Given the description of an element on the screen output the (x, y) to click on. 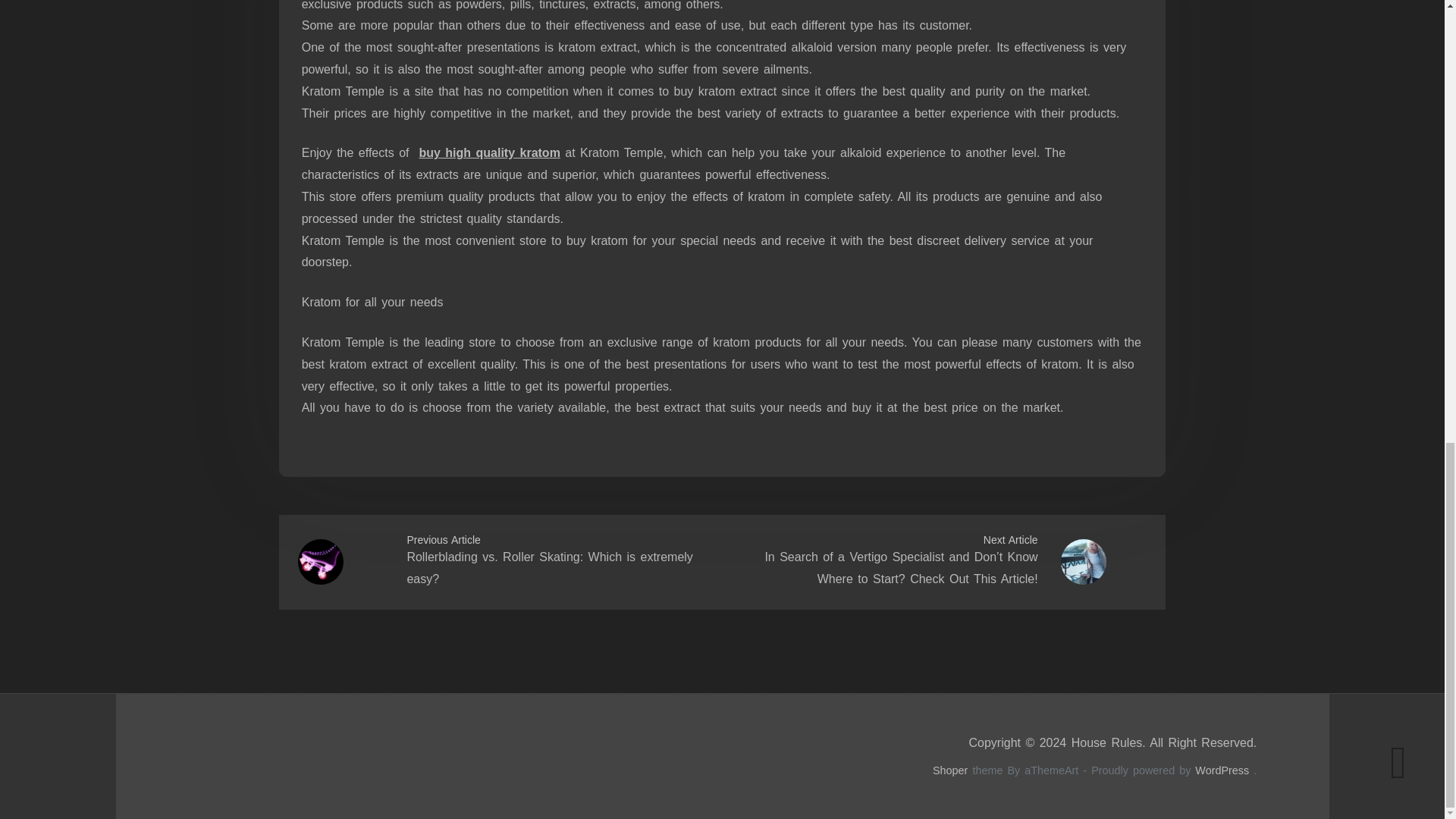
WordPress (1222, 770)
buy high quality kratom (489, 152)
Shoper (950, 770)
Rollerblading vs. Roller Skating: Which is extremely easy? (549, 567)
